Given the description of an element on the screen output the (x, y) to click on. 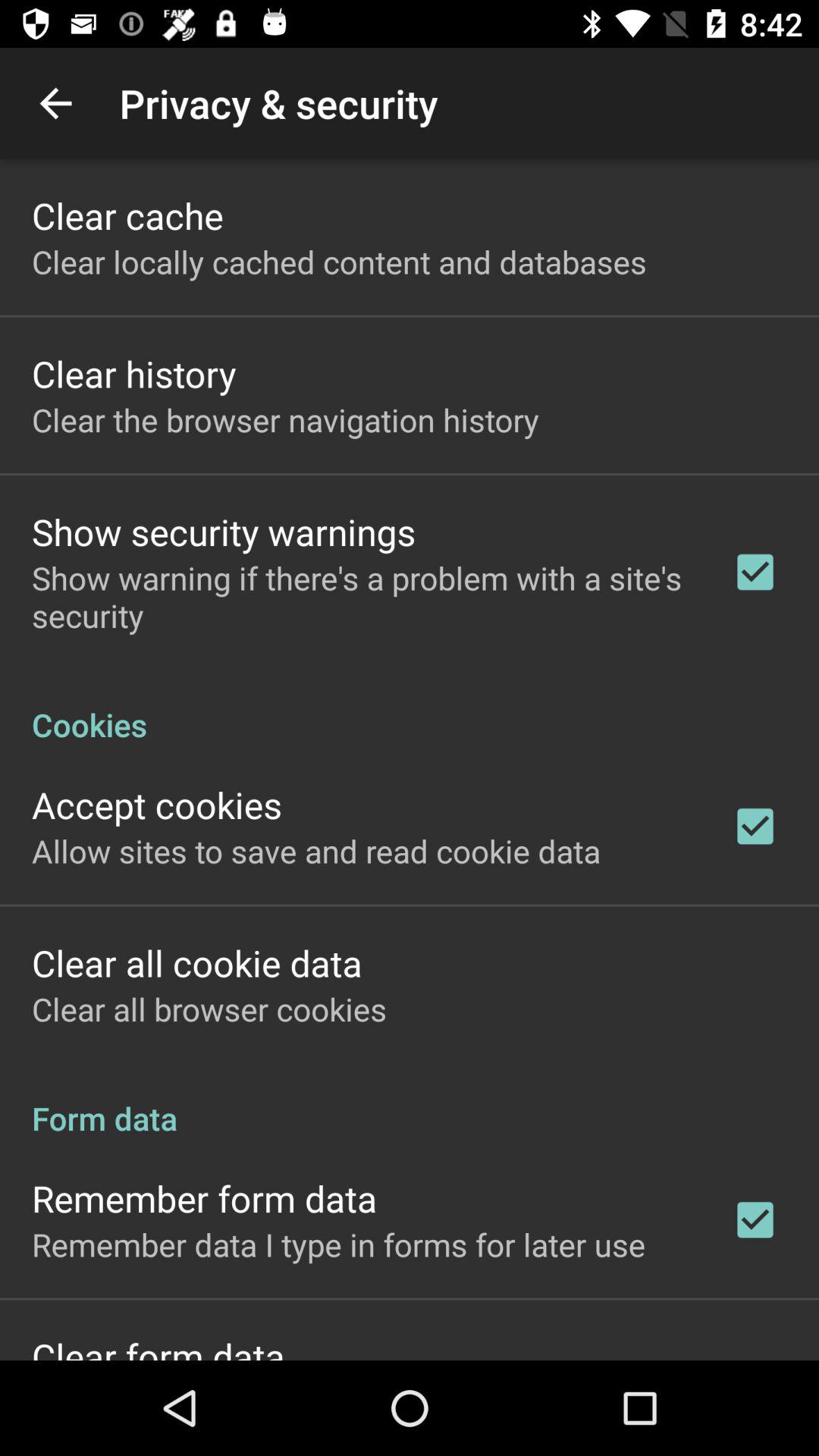
click the icon above the allow sites to item (156, 804)
